Given the description of an element on the screen output the (x, y) to click on. 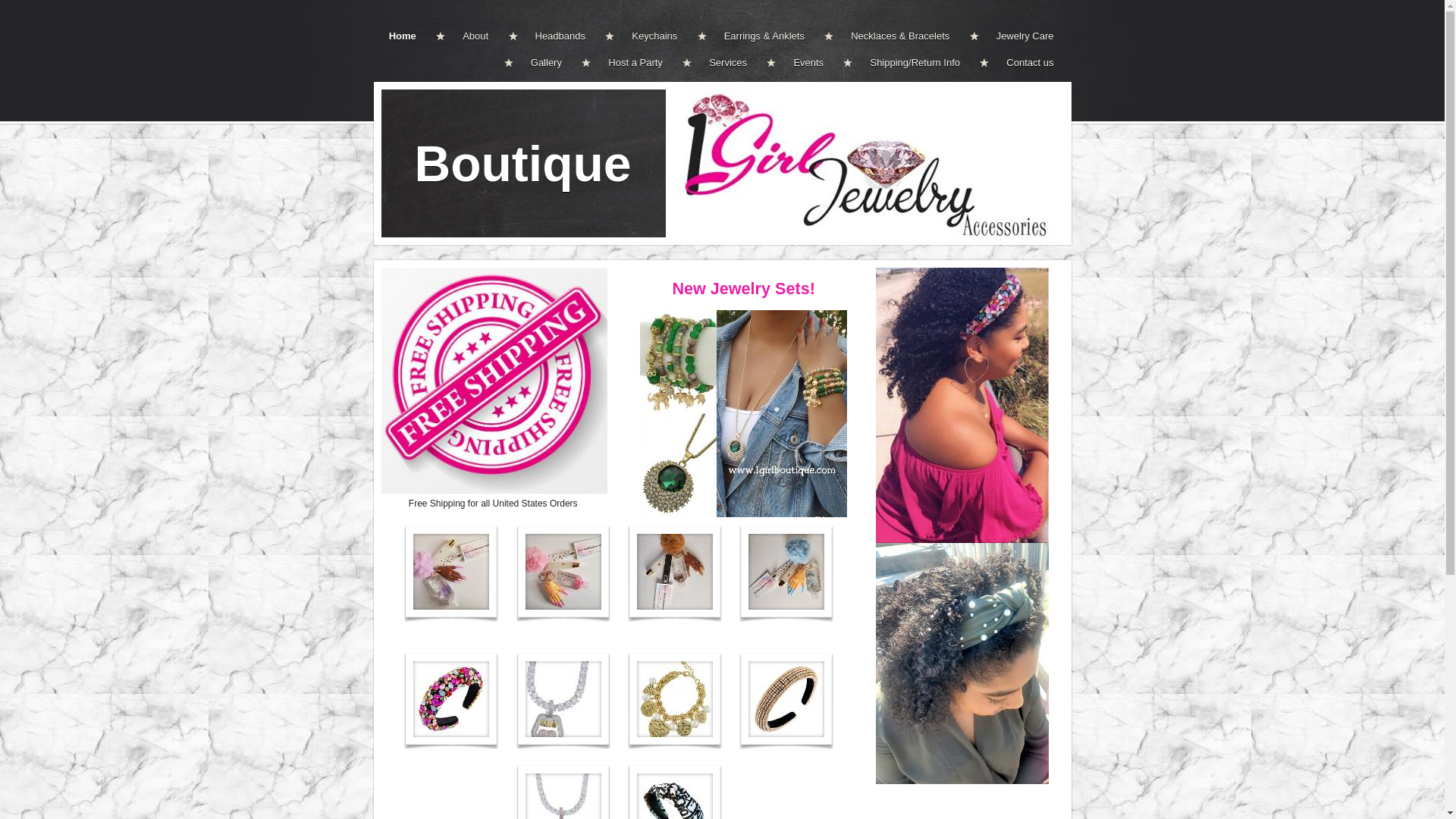
Shipping/Return Info Element type: text (910, 62)
Services Element type: text (723, 62)
Headbands Element type: text (555, 35)
Events Element type: text (803, 62)
Jewelry Care Element type: text (1020, 35)
Home Element type: text (411, 35)
About Element type: text (470, 35)
Contact us Element type: text (1024, 62)
Gallery Element type: text (541, 62)
Boutique Element type: text (522, 162)
Earrings & Anklets Element type: text (759, 35)
Necklaces & Bracelets Element type: text (895, 35)
Keychains Element type: text (649, 35)
Host a Party Element type: text (630, 62)
